Given the description of an element on the screen output the (x, y) to click on. 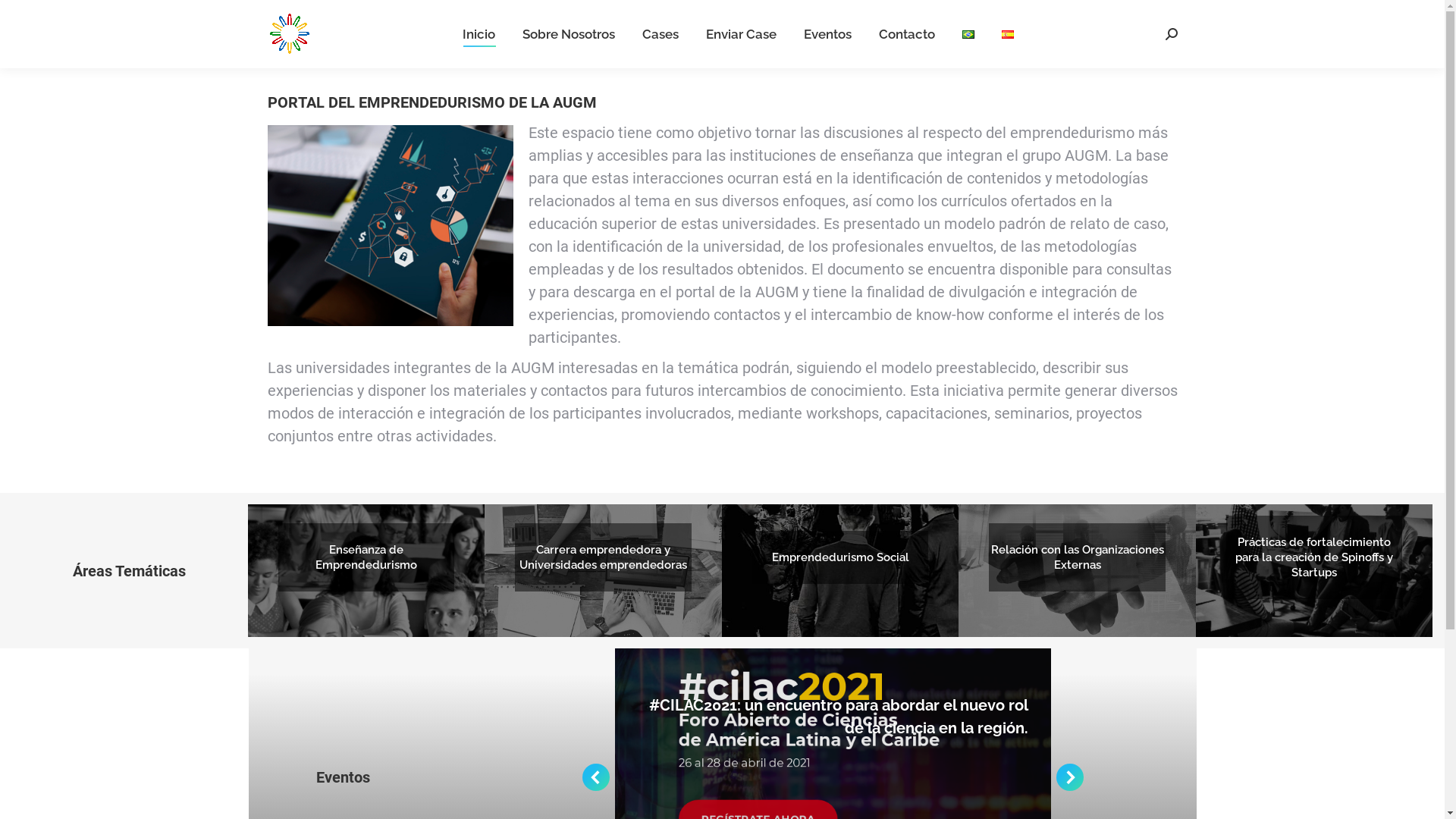
Inicio Element type: text (478, 33)
Emprendedurismo Social Element type: text (840, 556)
Eventos Element type: text (827, 33)
Sobre Nosotros Element type: text (567, 33)
Carrera emprendedora y Universidades emprendedoras Element type: text (602, 557)
Enviar Case Element type: text (740, 33)
Cases Element type: text (659, 33)
Contacto Element type: text (906, 33)
Ir! Element type: text (20, 16)
